Given the description of an element on the screen output the (x, y) to click on. 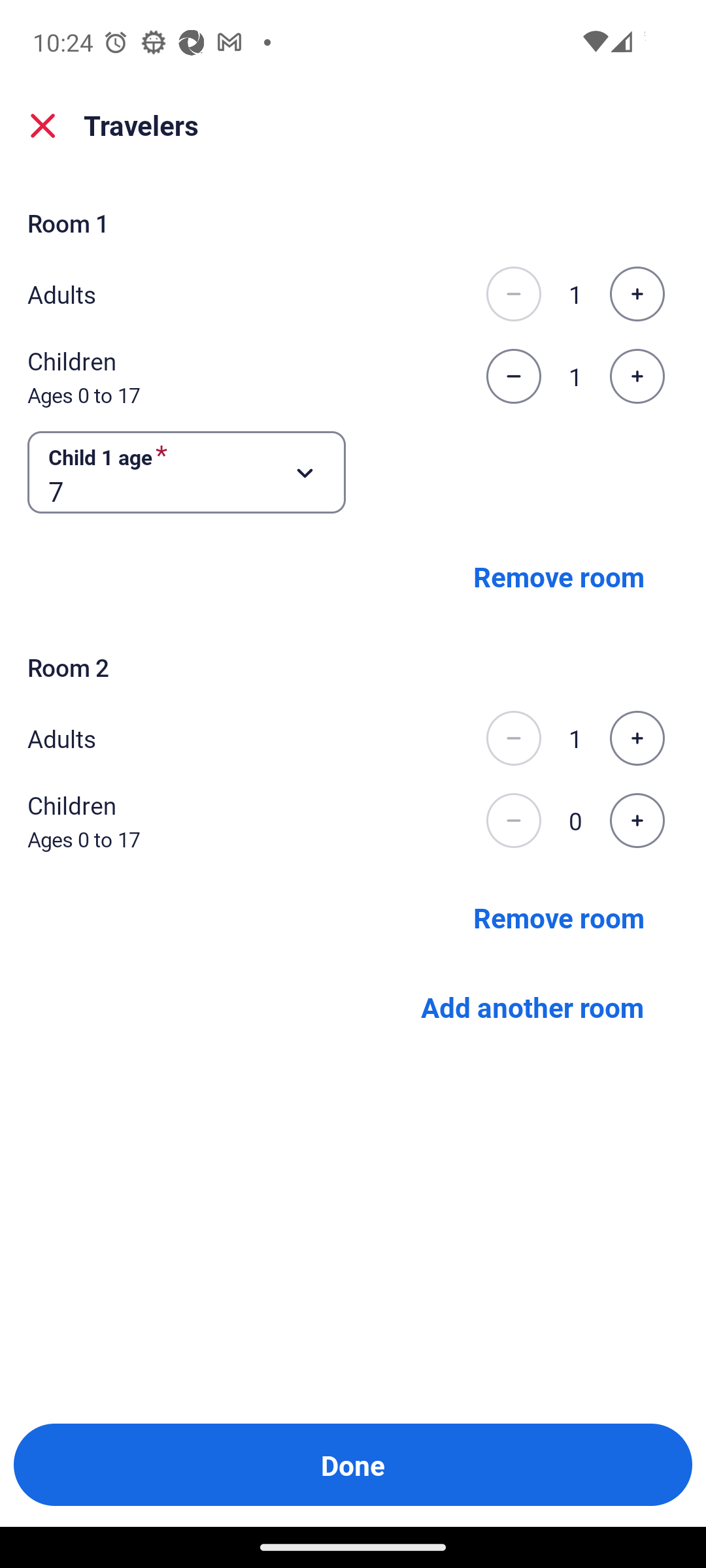
close (43, 125)
Decrease the number of adults (513, 293)
Increase the number of adults (636, 293)
Decrease the number of children (513, 376)
Increase the number of children (636, 376)
Child 1 age required Button 7 (186, 472)
Remove room (557, 576)
Decrease the number of adults (513, 738)
Increase the number of adults (636, 738)
Decrease the number of children (513, 820)
Increase the number of children (636, 820)
Remove room (557, 917)
Add another room (531, 1006)
Done (352, 1464)
